Given the description of an element on the screen output the (x, y) to click on. 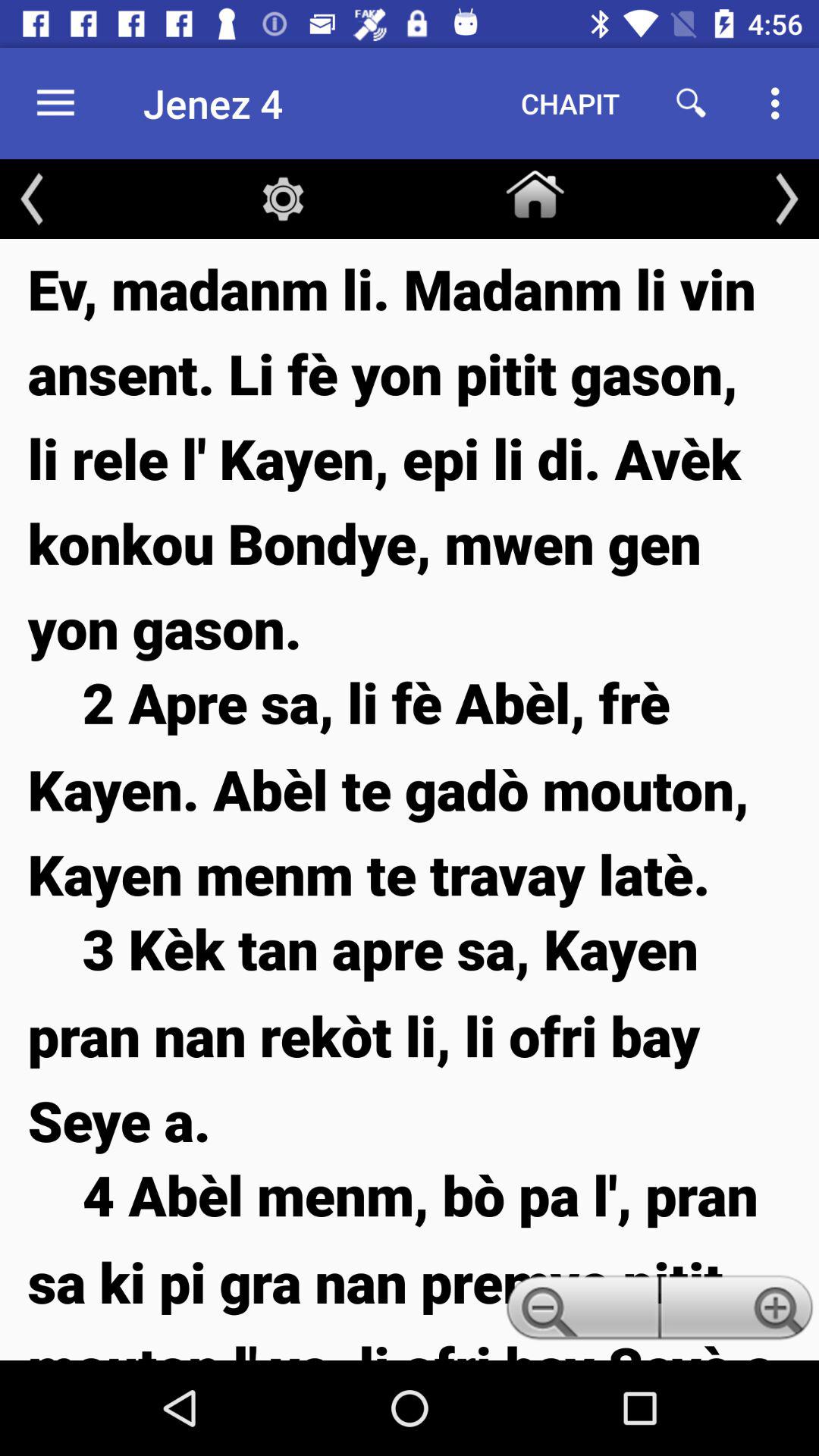
turn on item below jenez 4 (283, 198)
